Given the description of an element on the screen output the (x, y) to click on. 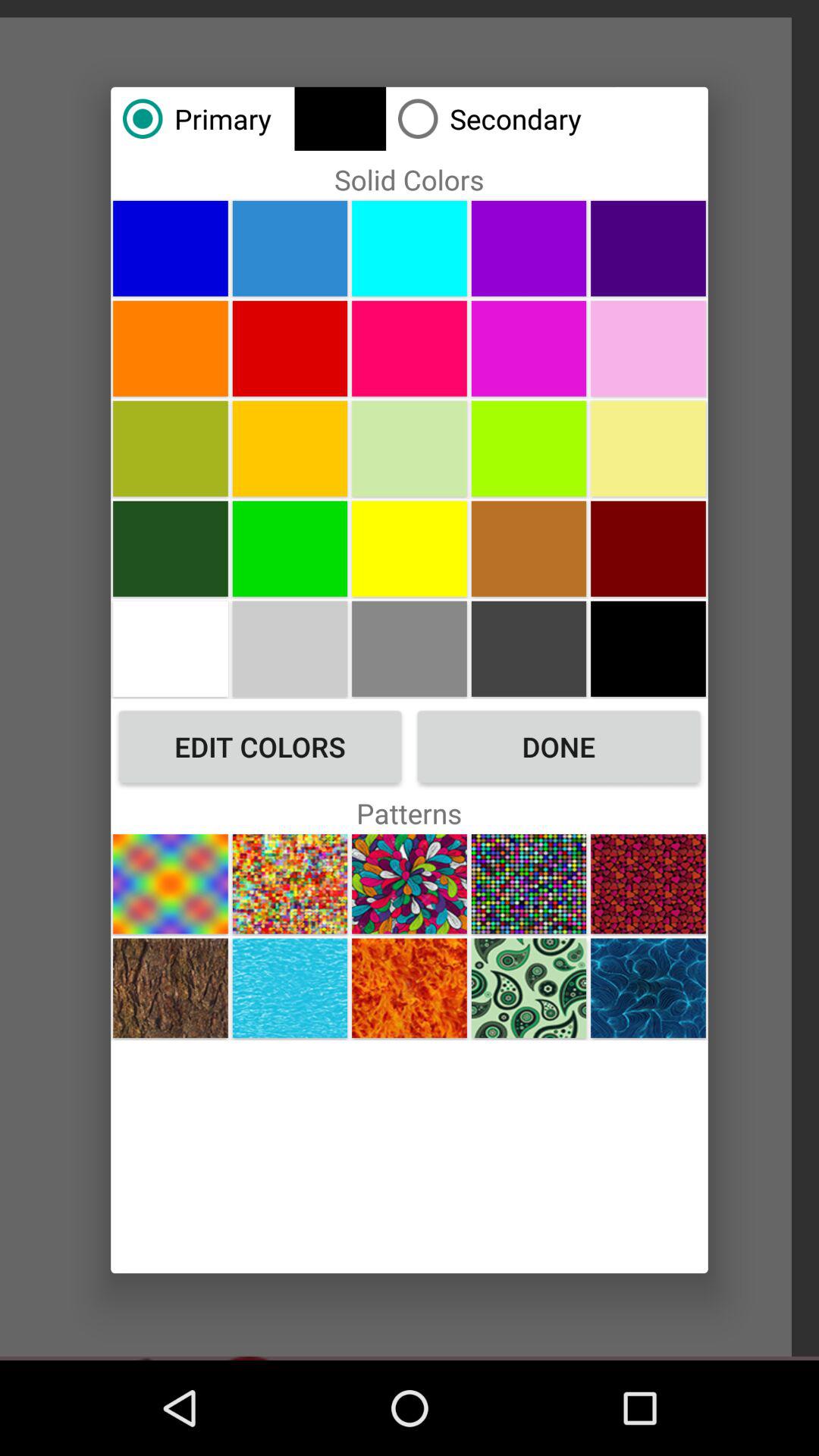
choose color black (647, 648)
